Given the description of an element on the screen output the (x, y) to click on. 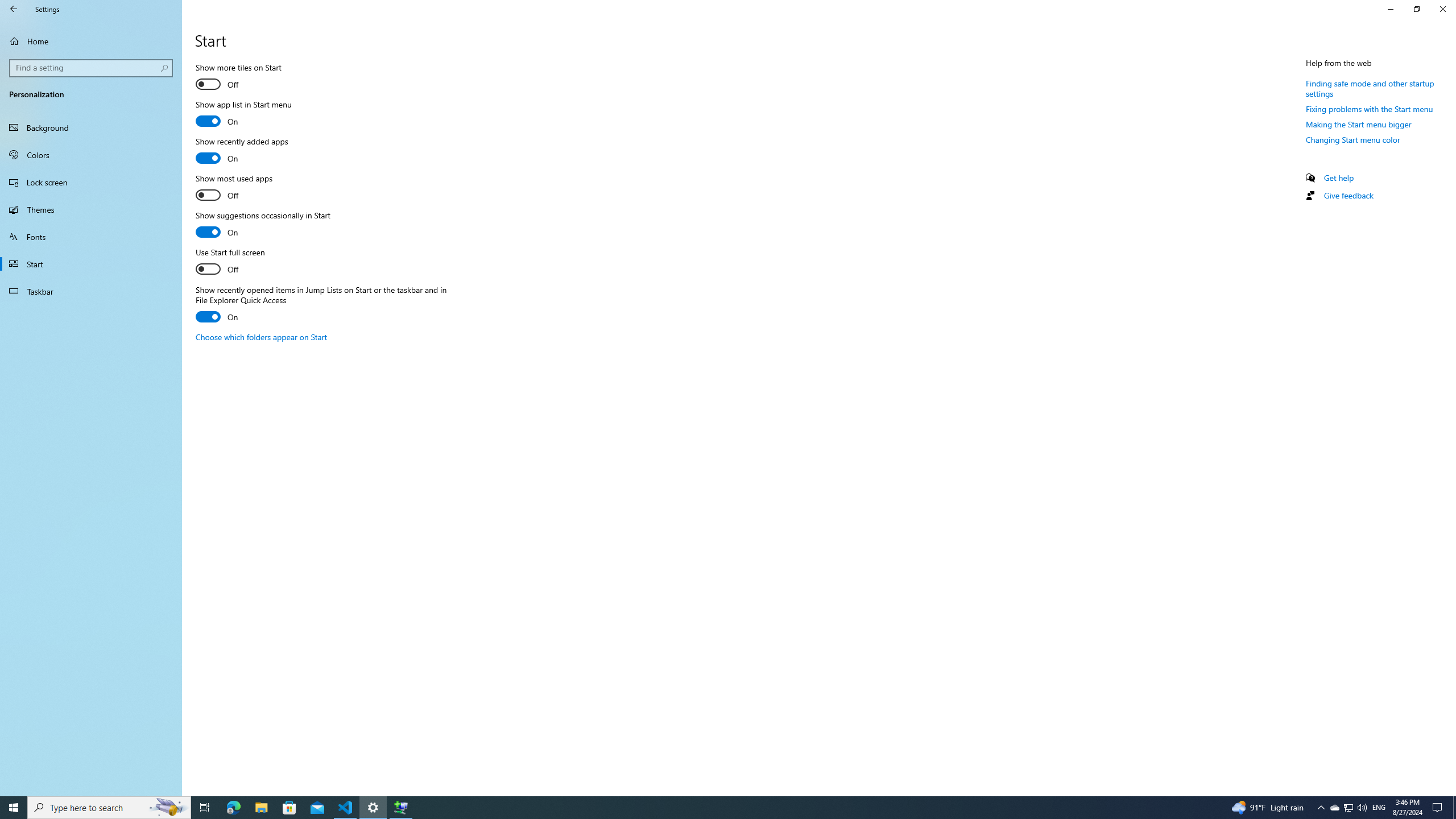
Action Center, No new notifications (1439, 807)
Home (91, 40)
Fixing problems with the Start menu (1369, 108)
Minimize Settings (1390, 9)
Themes (91, 208)
Changing Start menu color (1353, 139)
Search highlights icon opens search home window (167, 807)
Restore Settings (1416, 9)
Task View (204, 807)
Start (91, 263)
Visual Studio Code - 1 running window (345, 807)
Microsoft Store (289, 807)
Fonts (91, 236)
